Given the description of an element on the screen output the (x, y) to click on. 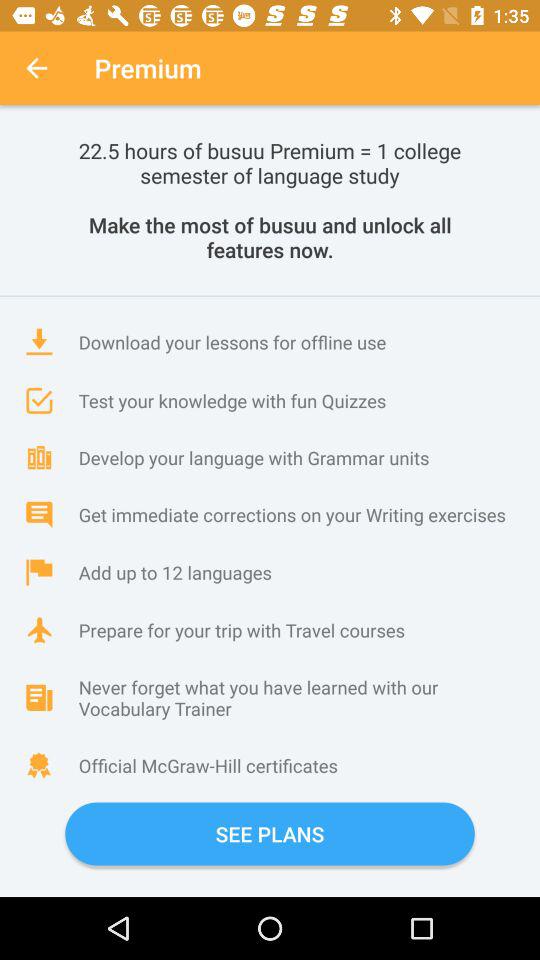
select the icon to the left of premium (36, 68)
